Given the description of an element on the screen output the (x, y) to click on. 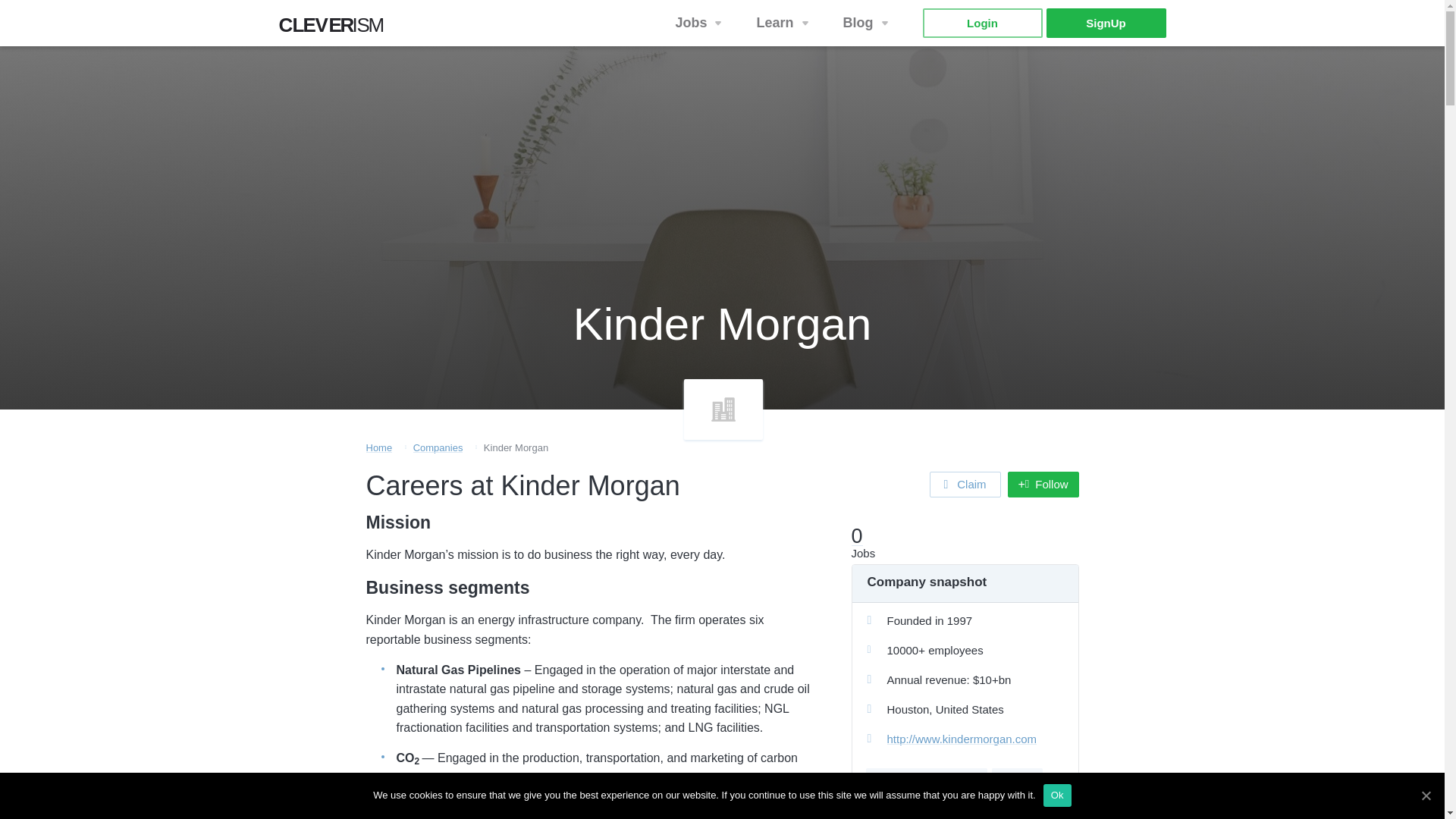
Claim (965, 484)
Companies (438, 447)
Blog (867, 22)
Learn (783, 22)
Home (378, 447)
Login (981, 22)
SignUp (1106, 22)
Utilities (1016, 778)
Jobs (336, 28)
